Given the description of an element on the screen output the (x, y) to click on. 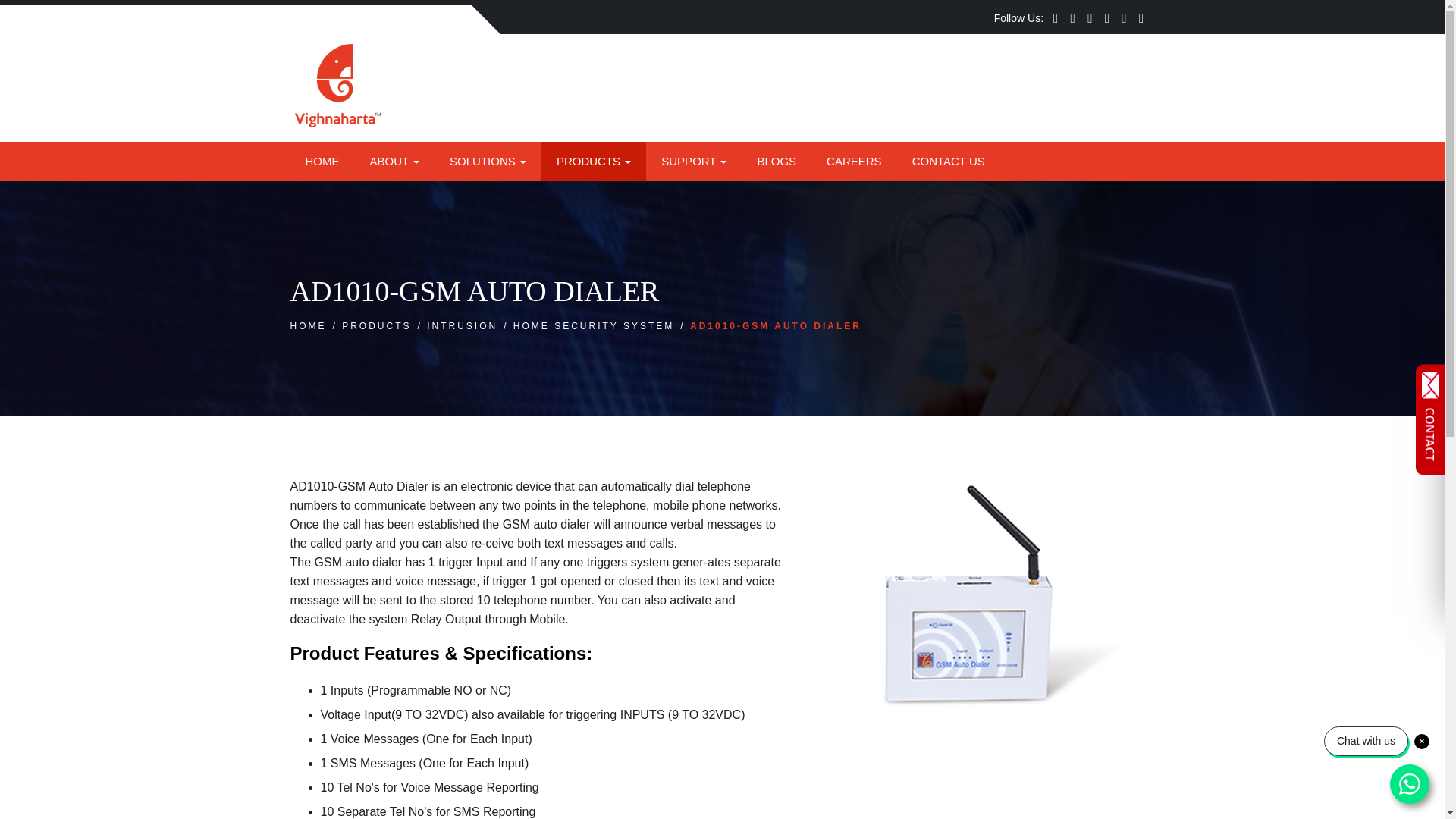
HOME (321, 160)
PRODUCTS (593, 160)
ABOUT (395, 160)
SOLUTIONS (487, 160)
